Given the description of an element on the screen output the (x, y) to click on. 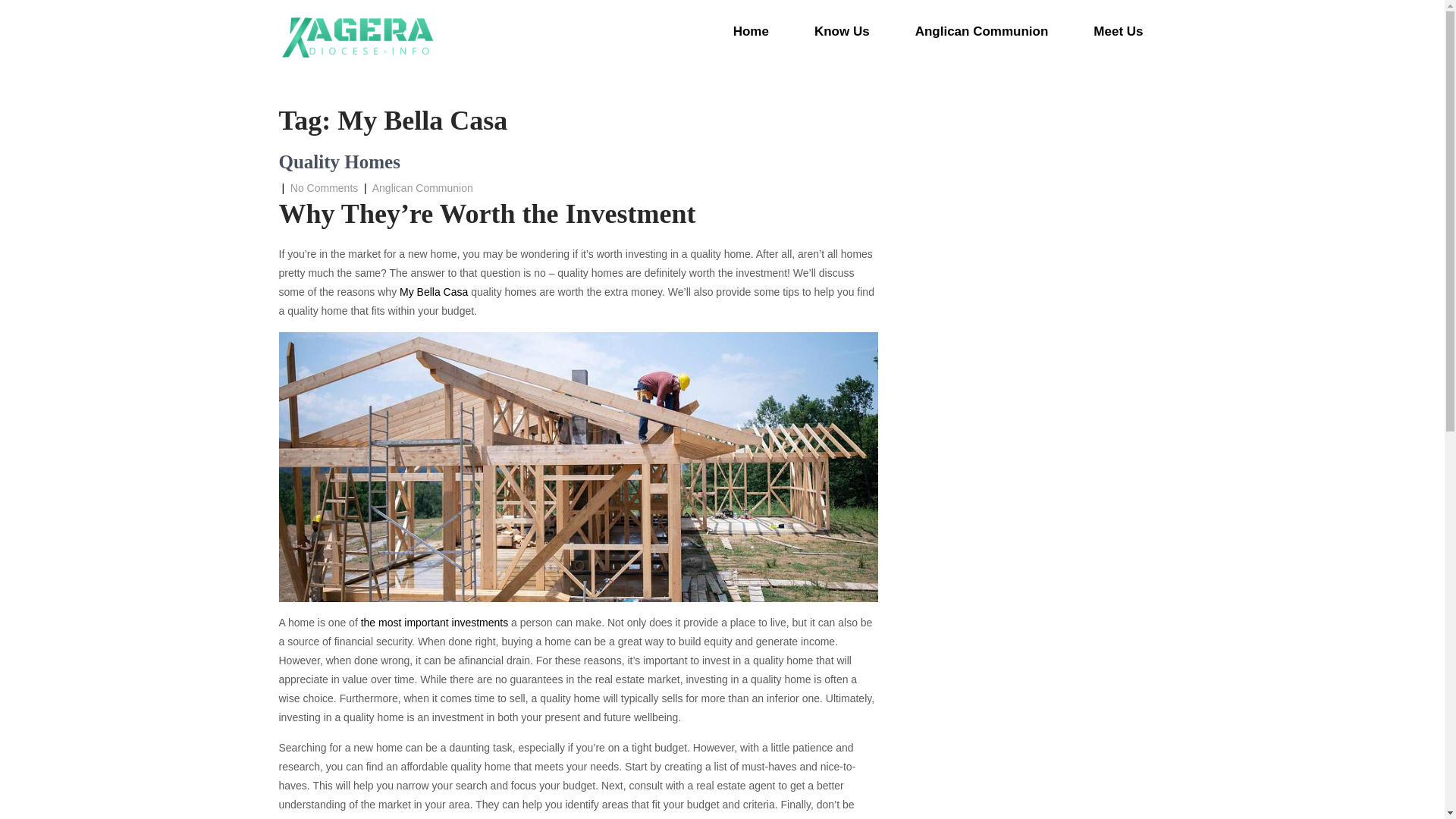
Anglican Communion (981, 31)
My Bella Casa (432, 291)
Home (751, 31)
No Comments (323, 187)
Know Us (842, 31)
Meet Us (1118, 31)
Quality Homes (339, 161)
Anglican Communion (422, 187)
the most important investments (434, 622)
